Given the description of an element on the screen output the (x, y) to click on. 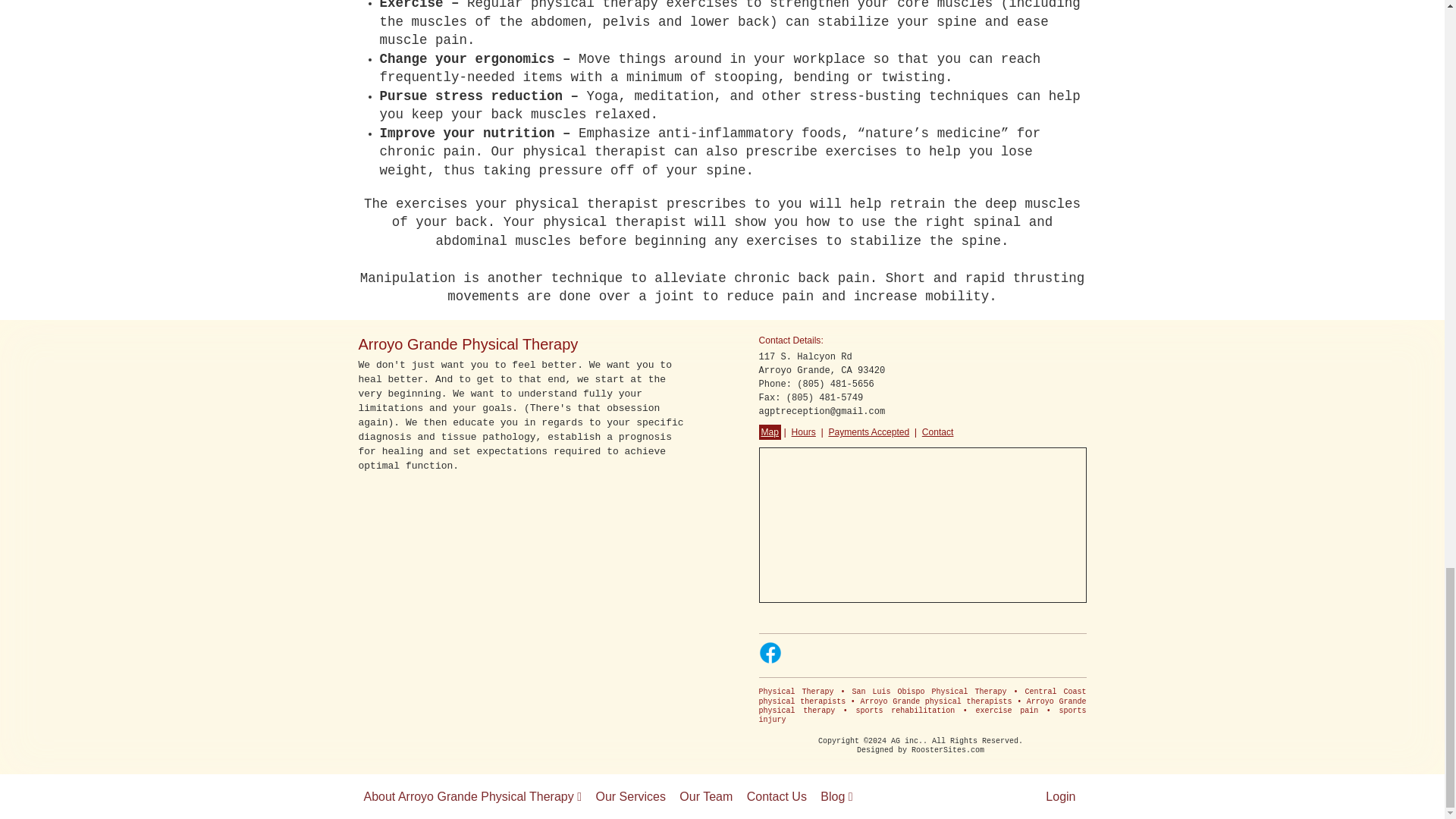
Payments Accepted (868, 432)
Hours (803, 432)
Contact (938, 432)
Map (769, 432)
